Given the description of an element on the screen output the (x, y) to click on. 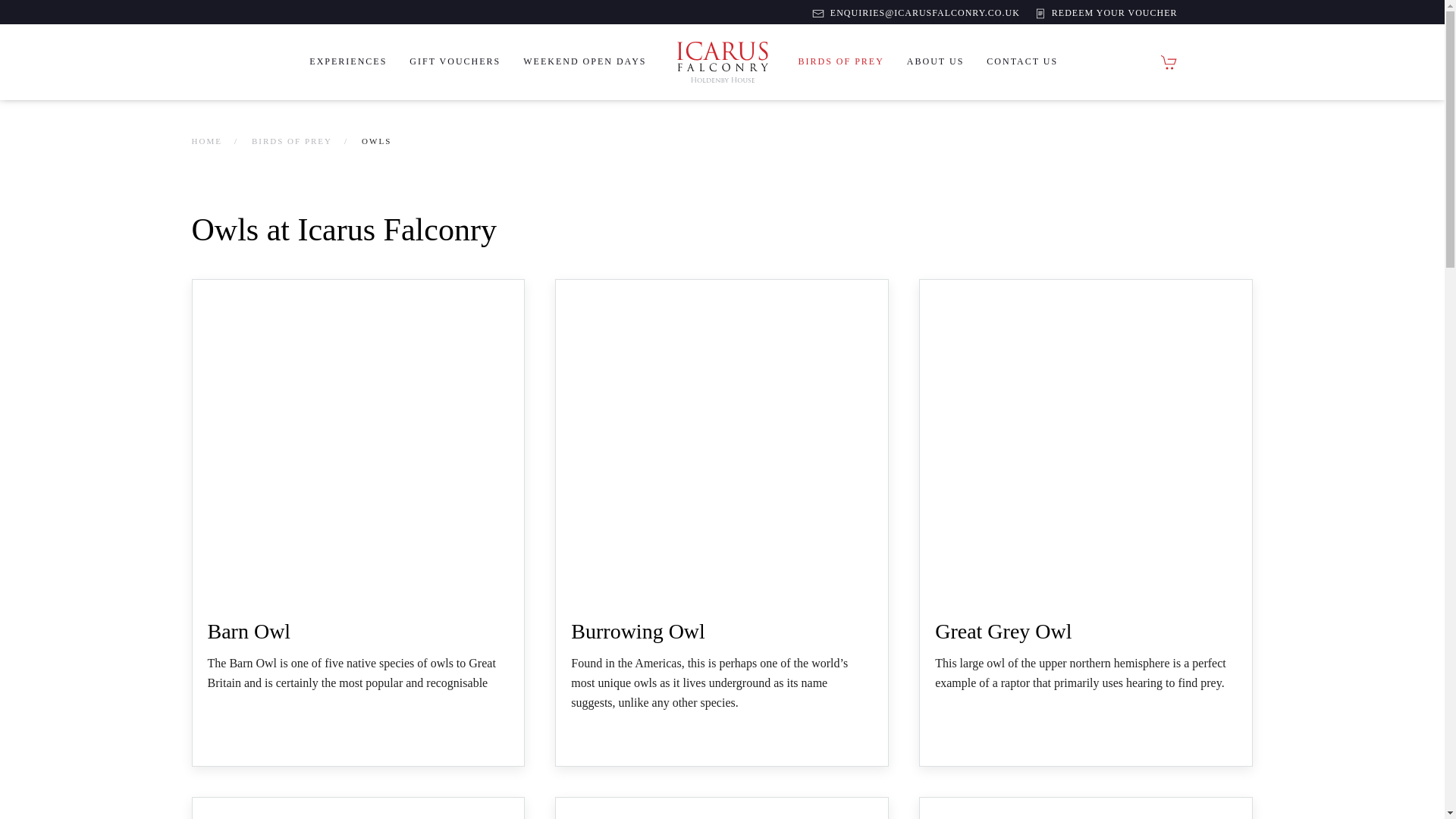
CONTACT US (1021, 61)
EXPERIENCES (347, 61)
  REDEEM YOUR VOUCHER (1106, 12)
ABOUT US (935, 61)
WEEKEND OPEN DAYS (585, 61)
Redeem your voucher (1106, 12)
BIRDS OF PREY (841, 61)
GIFT VOUCHERS (454, 61)
